Given the description of an element on the screen output the (x, y) to click on. 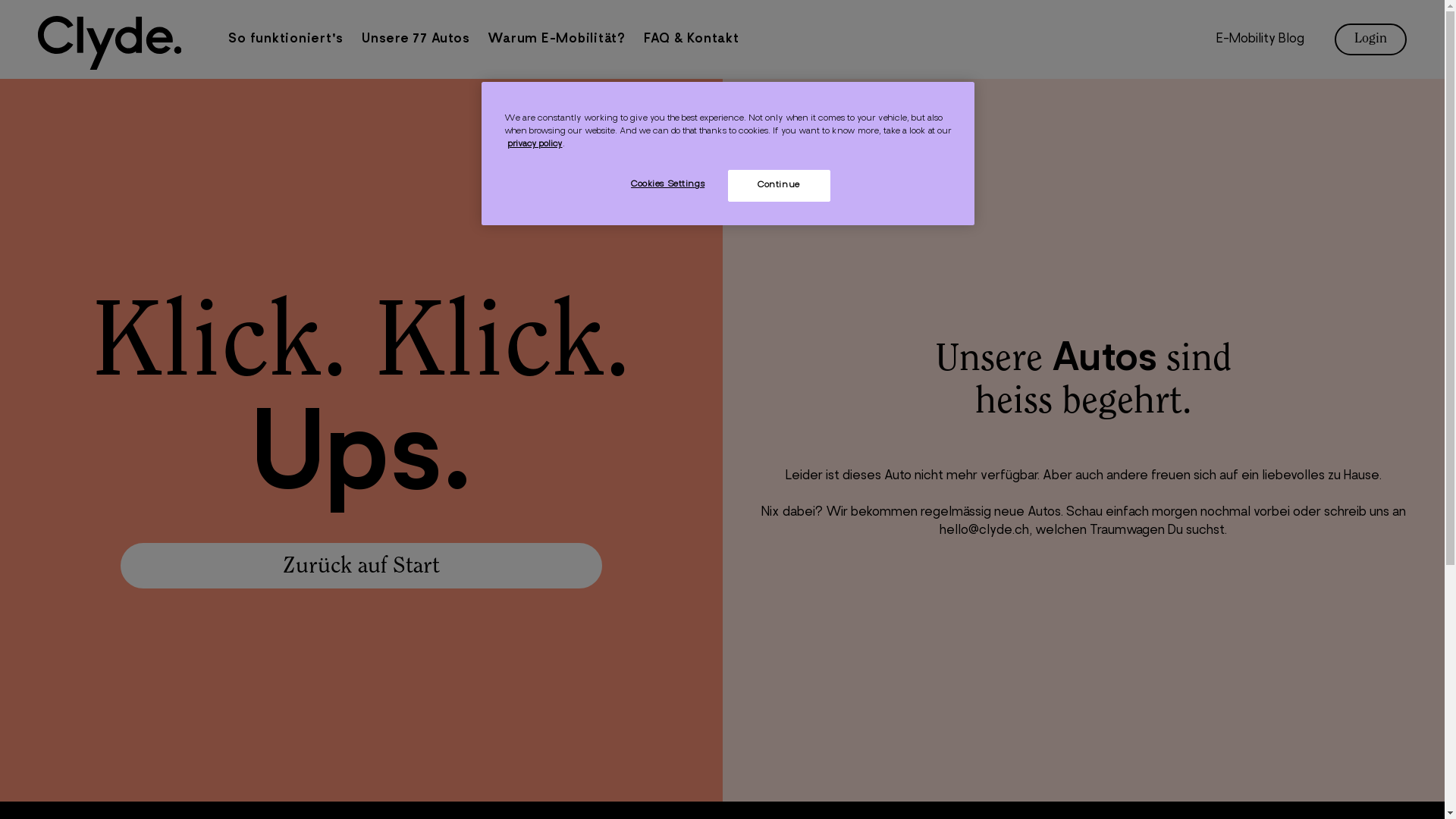
Unsere 77 Autos Element type: text (415, 39)
E-Mobility Blog Element type: text (1260, 39)
So funktioniert's Element type: text (285, 39)
FAQ & Kontakt Element type: text (691, 39)
hello@clyde.ch Element type: text (984, 530)
Login Element type: text (1370, 39)
